Given the description of an element on the screen output the (x, y) to click on. 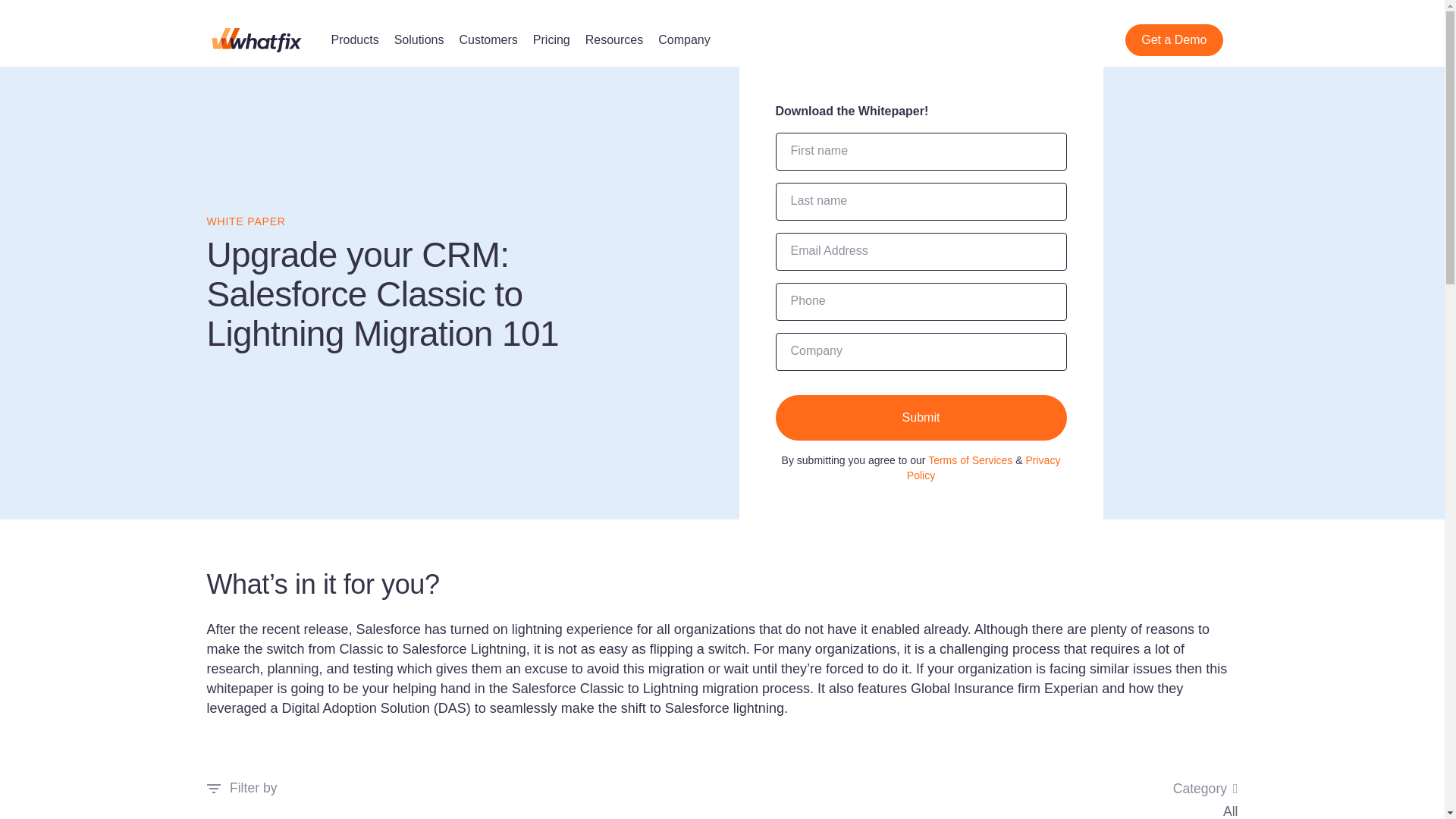
Pricing (551, 39)
Customers (487, 39)
Resources (614, 40)
Solutions (419, 40)
Products (354, 40)
Whatfix (255, 39)
